Given the description of an element on the screen output the (x, y) to click on. 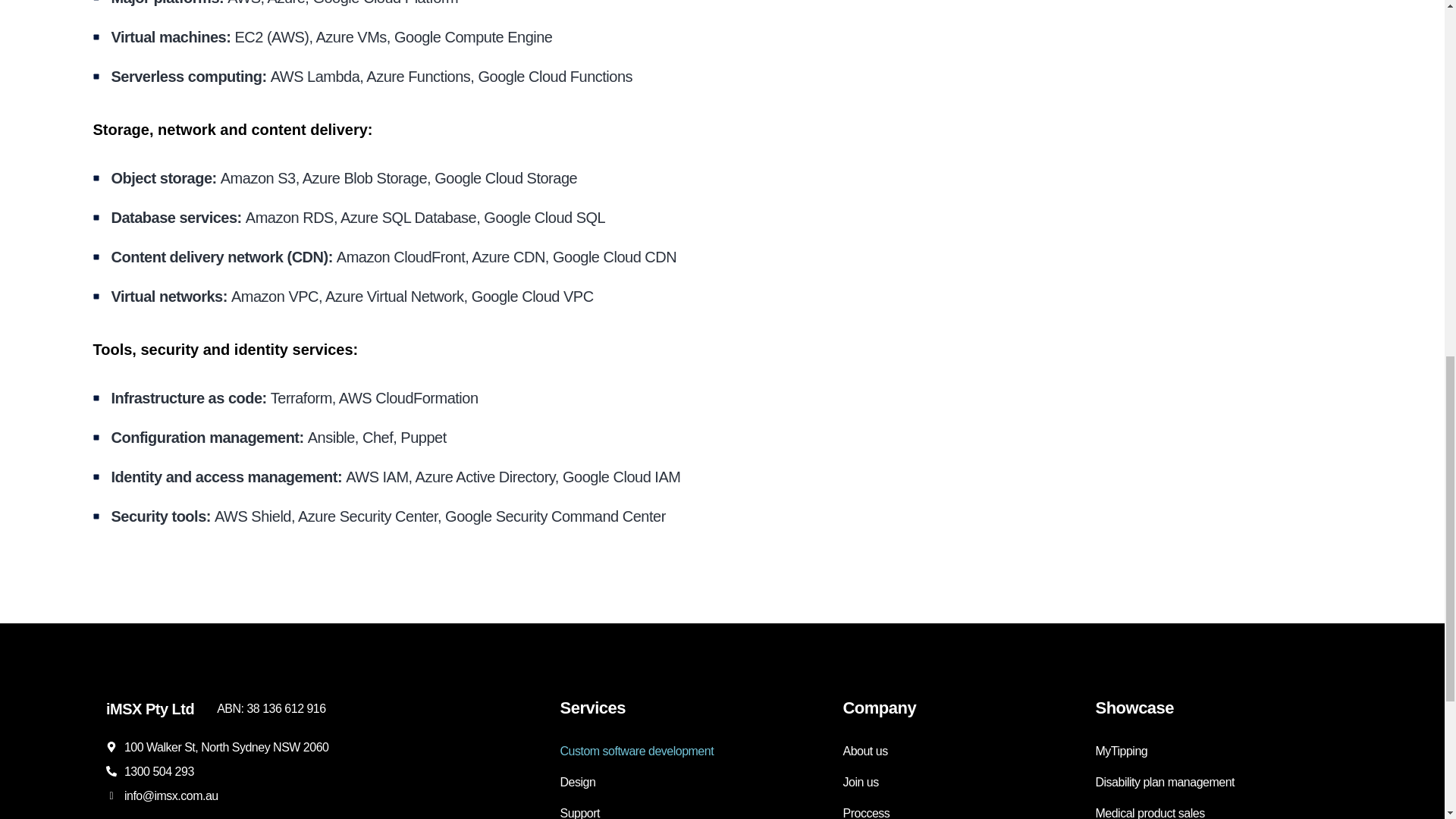
iMSX Pty Ltd (149, 709)
1300 504 293 (158, 771)
